Given the description of an element on the screen output the (x, y) to click on. 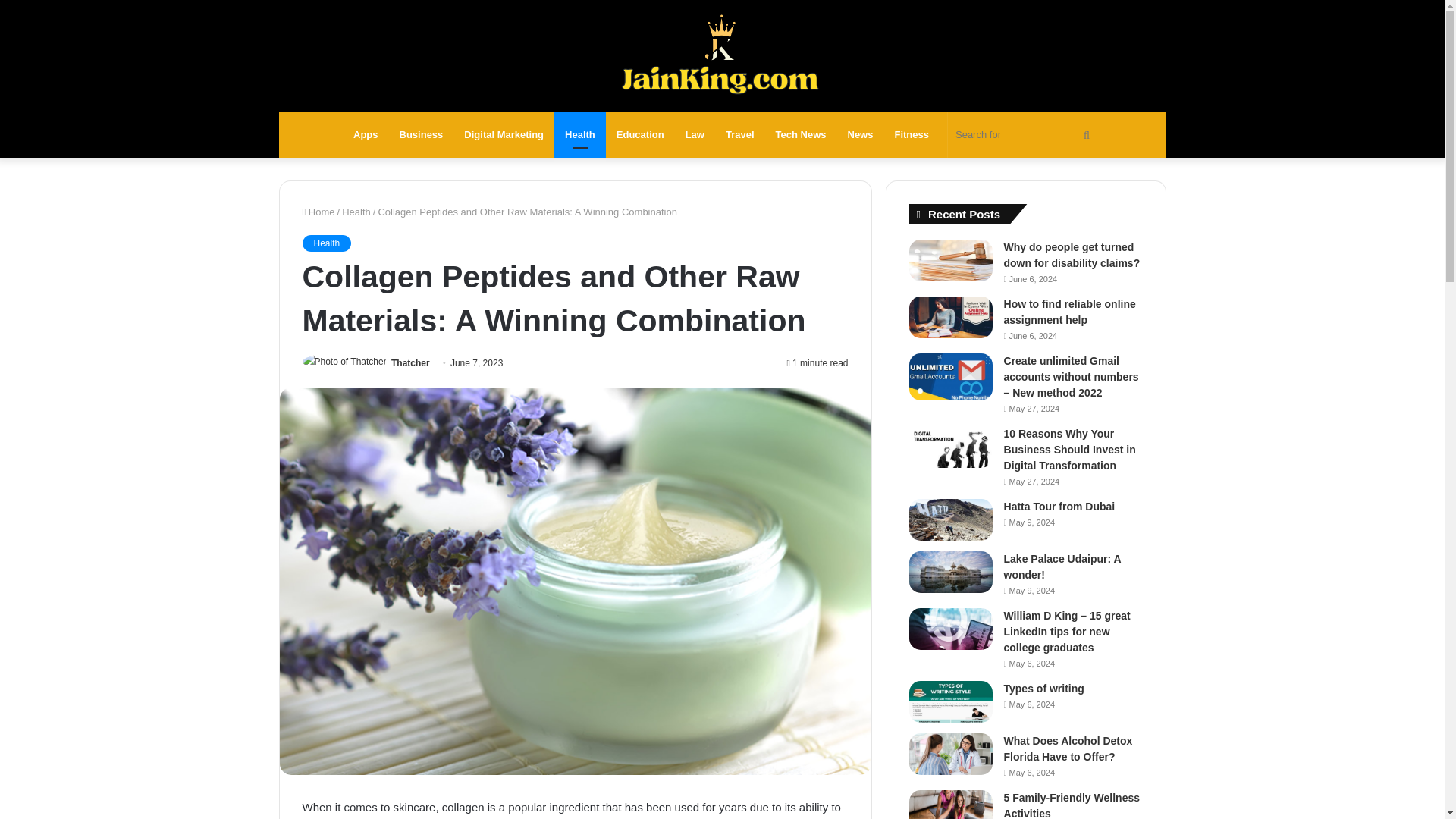
Tech News (801, 135)
Fitness (911, 135)
Apps (365, 135)
Jainking.com (721, 56)
Thatcher (410, 362)
Home (317, 211)
Health (356, 211)
Business (421, 135)
Digital Marketing (503, 135)
Thatcher (410, 362)
Education (640, 135)
Health (579, 135)
Health (325, 243)
News (860, 135)
Travel (739, 135)
